Given the description of an element on the screen output the (x, y) to click on. 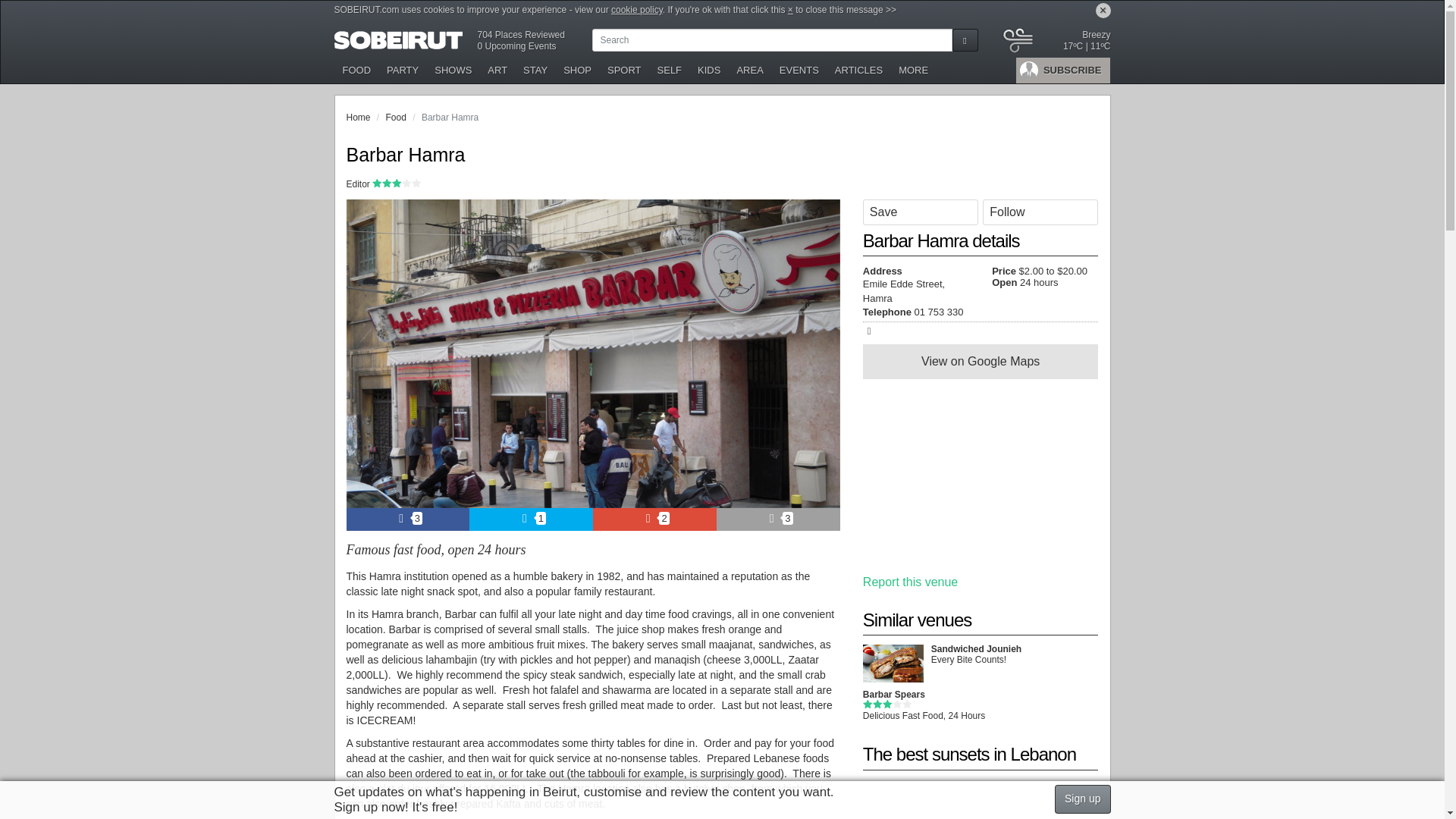
Save this venue (920, 212)
ART (497, 70)
SPORT (624, 70)
SHOP (577, 70)
MORE (913, 70)
KIDS (709, 70)
EVENTS (799, 70)
Twit this (530, 518)
STAY (535, 70)
SHOWS (453, 70)
PARTY (402, 70)
704 Places Reviewed (520, 34)
Follow this venue (1040, 212)
Share on e-mail (778, 518)
AREA (750, 70)
